Given the description of an element on the screen output the (x, y) to click on. 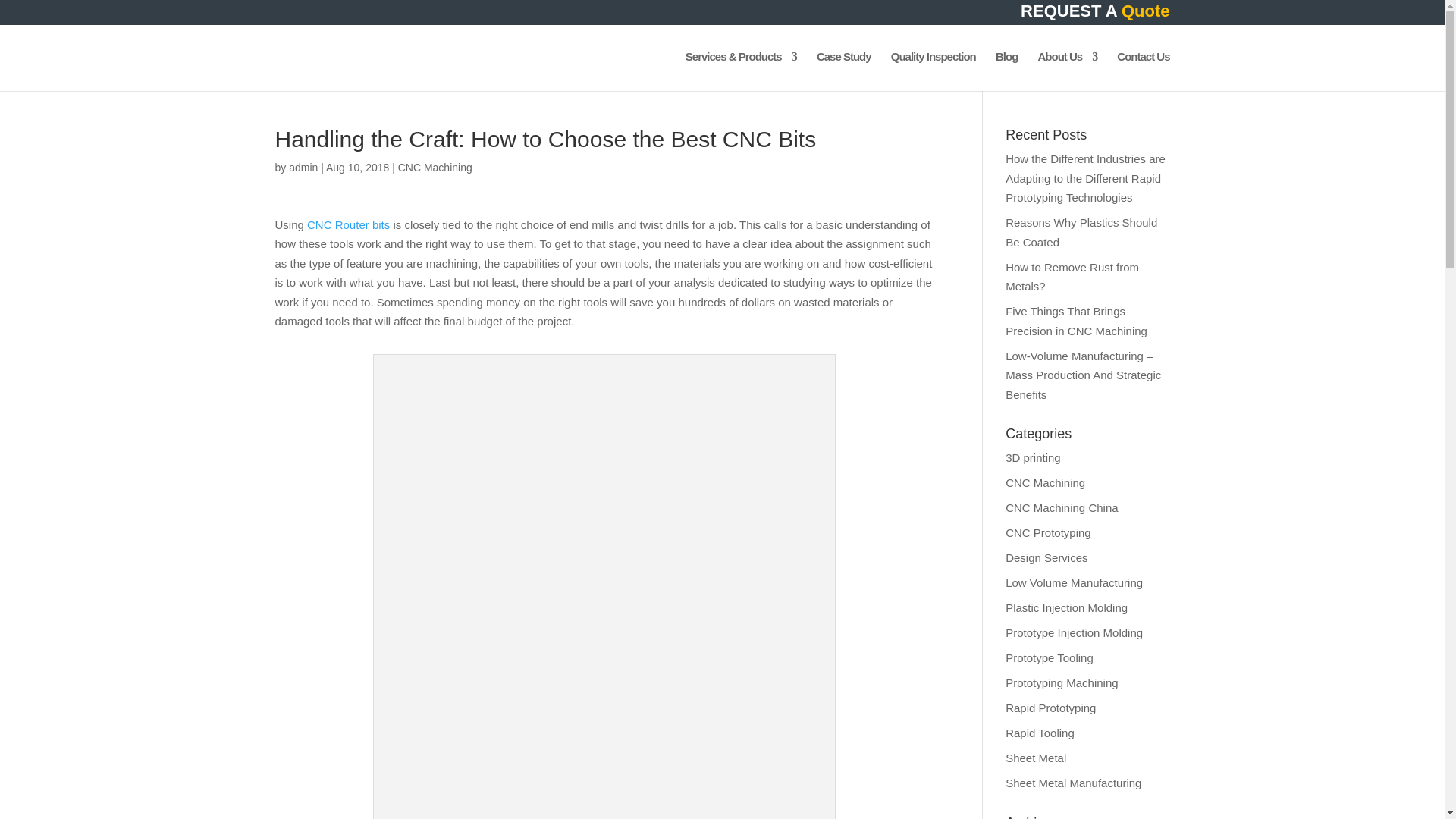
Prototyping Machining (1062, 682)
Low Volume Manufacturing (1074, 582)
CNC Router bits (348, 224)
3D printing (1033, 457)
How to Remove Rust from Metals? (1072, 277)
Quality Inspection (933, 70)
CNC Machining (1045, 481)
Prototype Injection Molding (1074, 632)
REQUEST A Quote (1094, 15)
CNC Prototyping (1048, 532)
Contact Us (1142, 70)
Case Study (843, 70)
admin (302, 167)
Plastic Injection Molding (1066, 607)
CNC Machining (434, 167)
